Given the description of an element on the screen output the (x, y) to click on. 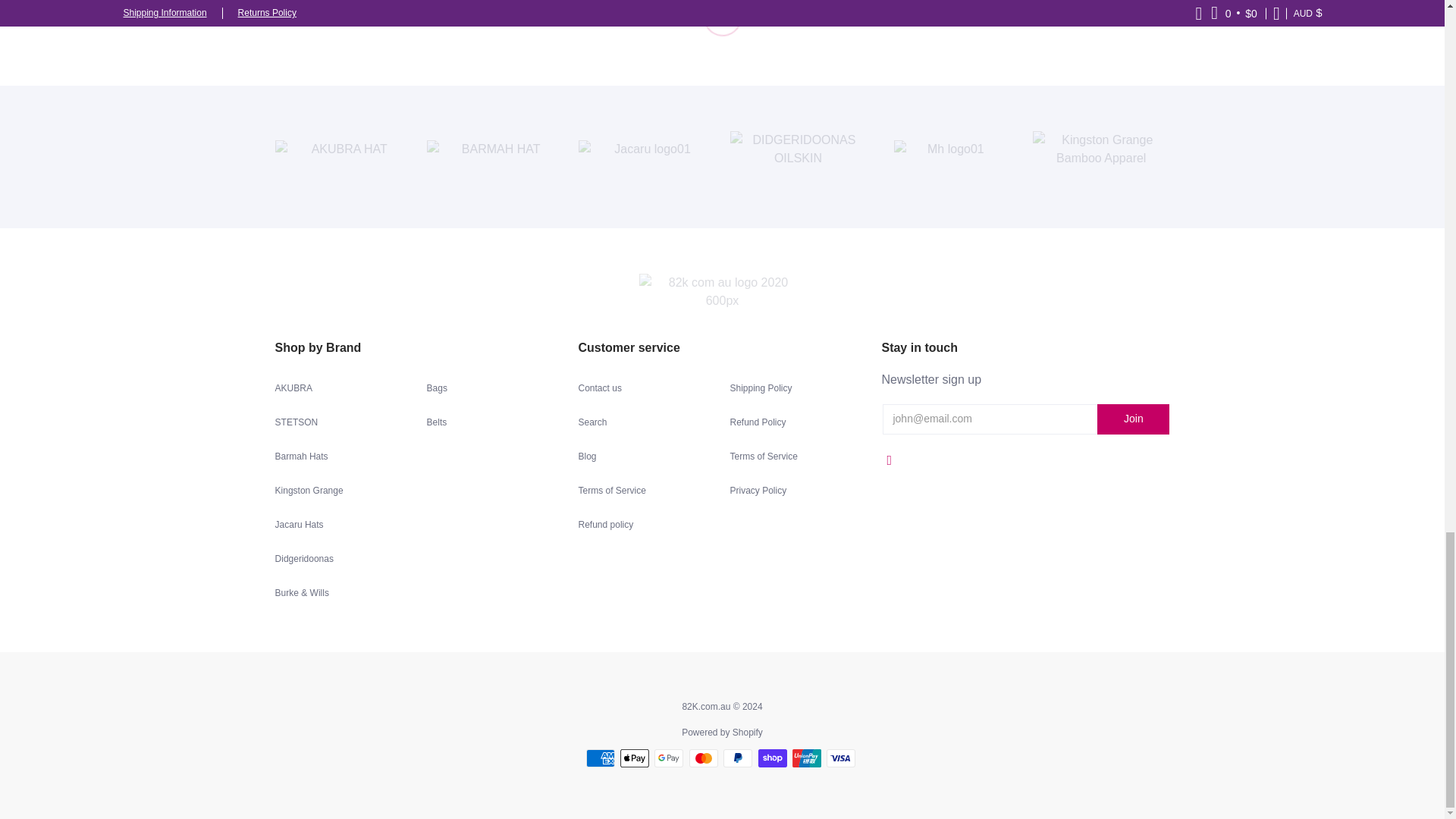
Mastercard (702, 758)
Apple Pay (634, 758)
Shop Pay (772, 758)
PayPal (737, 758)
Union Pay (806, 758)
American Express (600, 758)
Visa (841, 758)
Join (1133, 419)
Google Pay (667, 758)
